Given the description of an element on the screen output the (x, y) to click on. 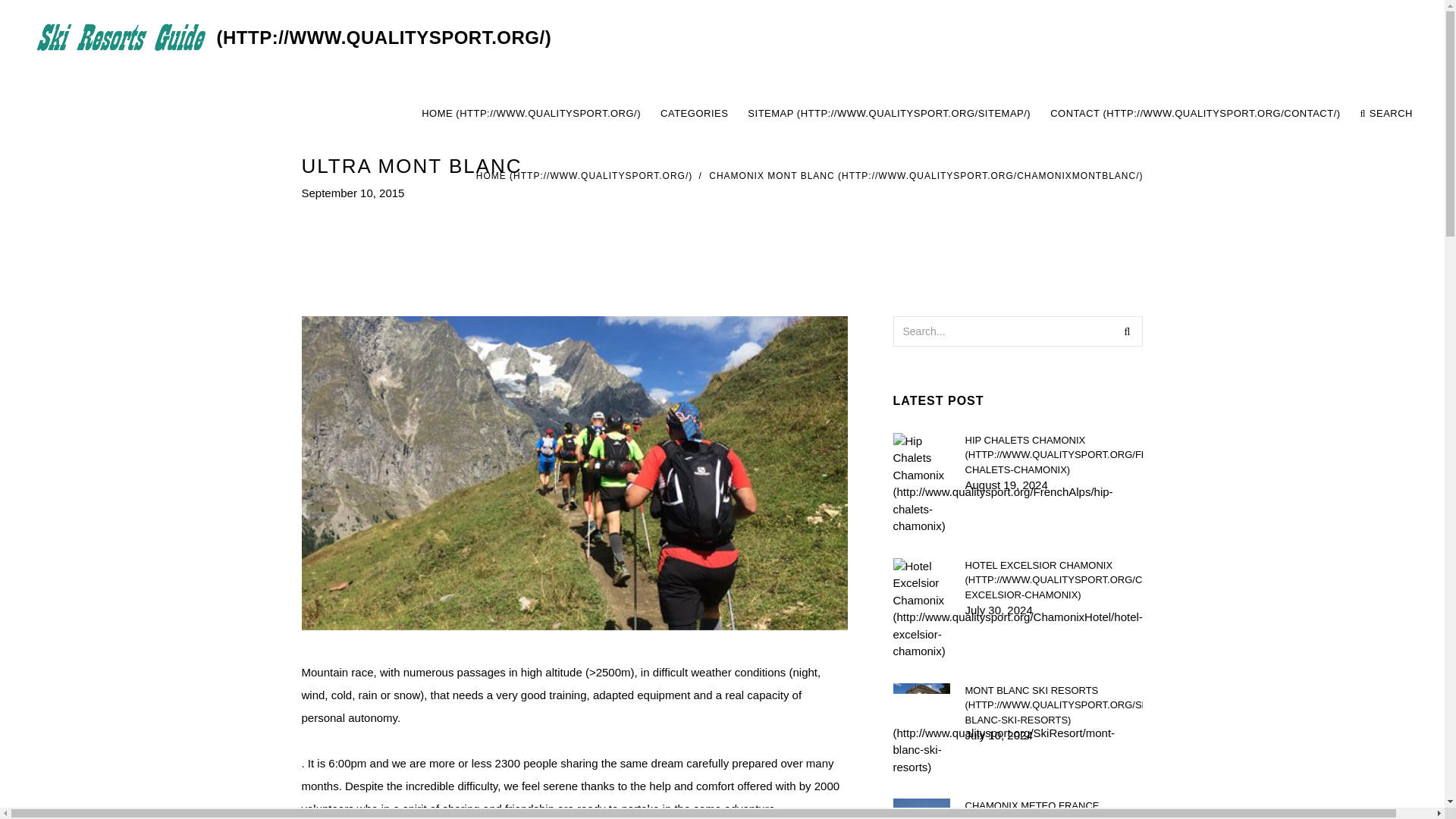
SITEMAP (888, 113)
MONT BLANC SKI RESORTS (1052, 704)
SEARCH (1386, 113)
HOME (584, 175)
HIP CHALETS CHAMONIX (1052, 454)
CONTACT (1195, 113)
Ski Resorts Guide (287, 38)
HOME (530, 113)
Search (1126, 330)
CATEGORIES (693, 113)
